Given the description of an element on the screen output the (x, y) to click on. 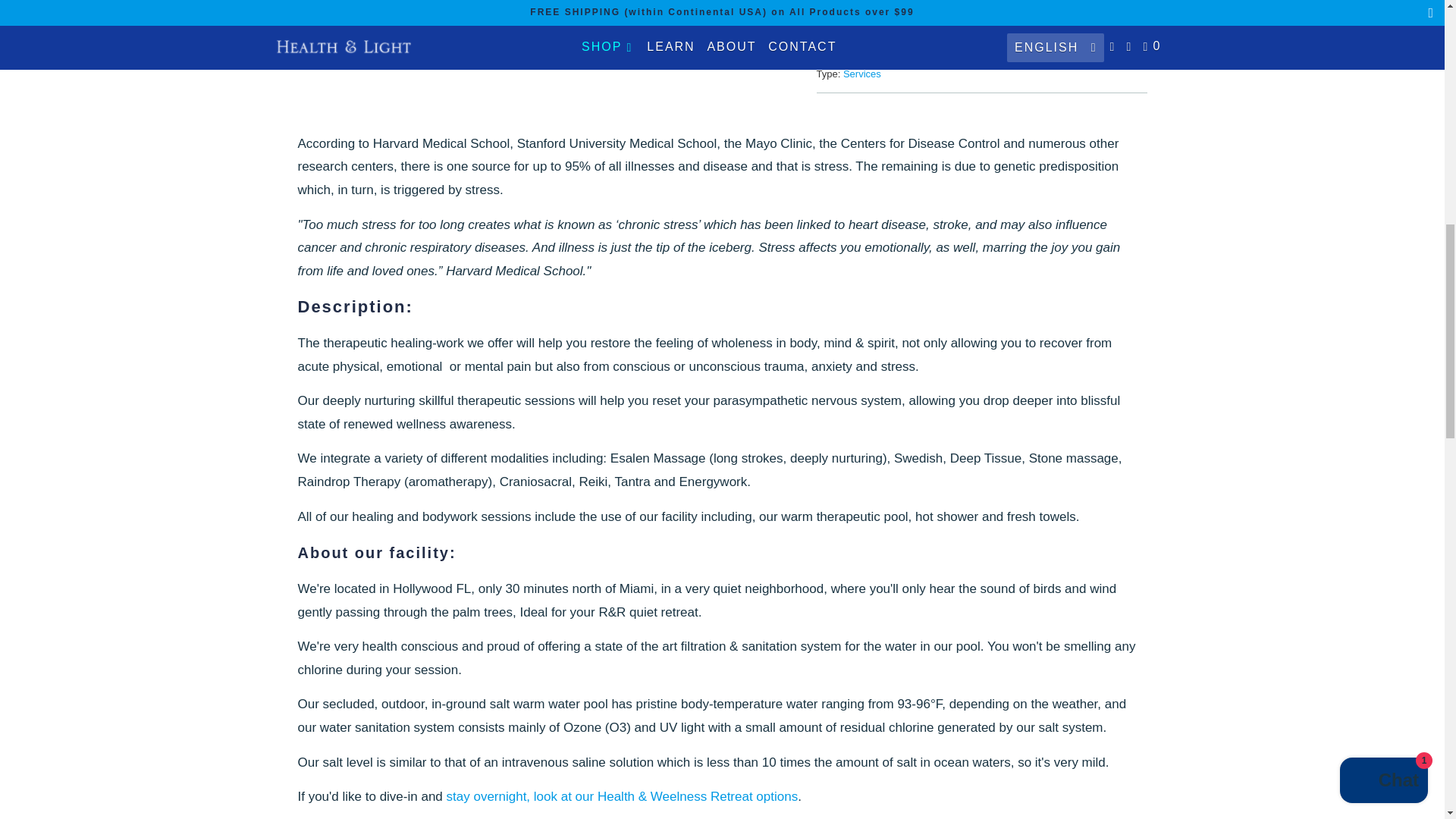
Products tagged Anxiety (957, 20)
Products tagged Detox (1053, 20)
Products tagged Adrenal Support (898, 20)
Share this on Twitter (863, 4)
Share this on Pinterest (904, 4)
Share this on Facebook (883, 4)
Email this to a friend (924, 4)
Products tagged Depression (1005, 20)
